Given the description of an element on the screen output the (x, y) to click on. 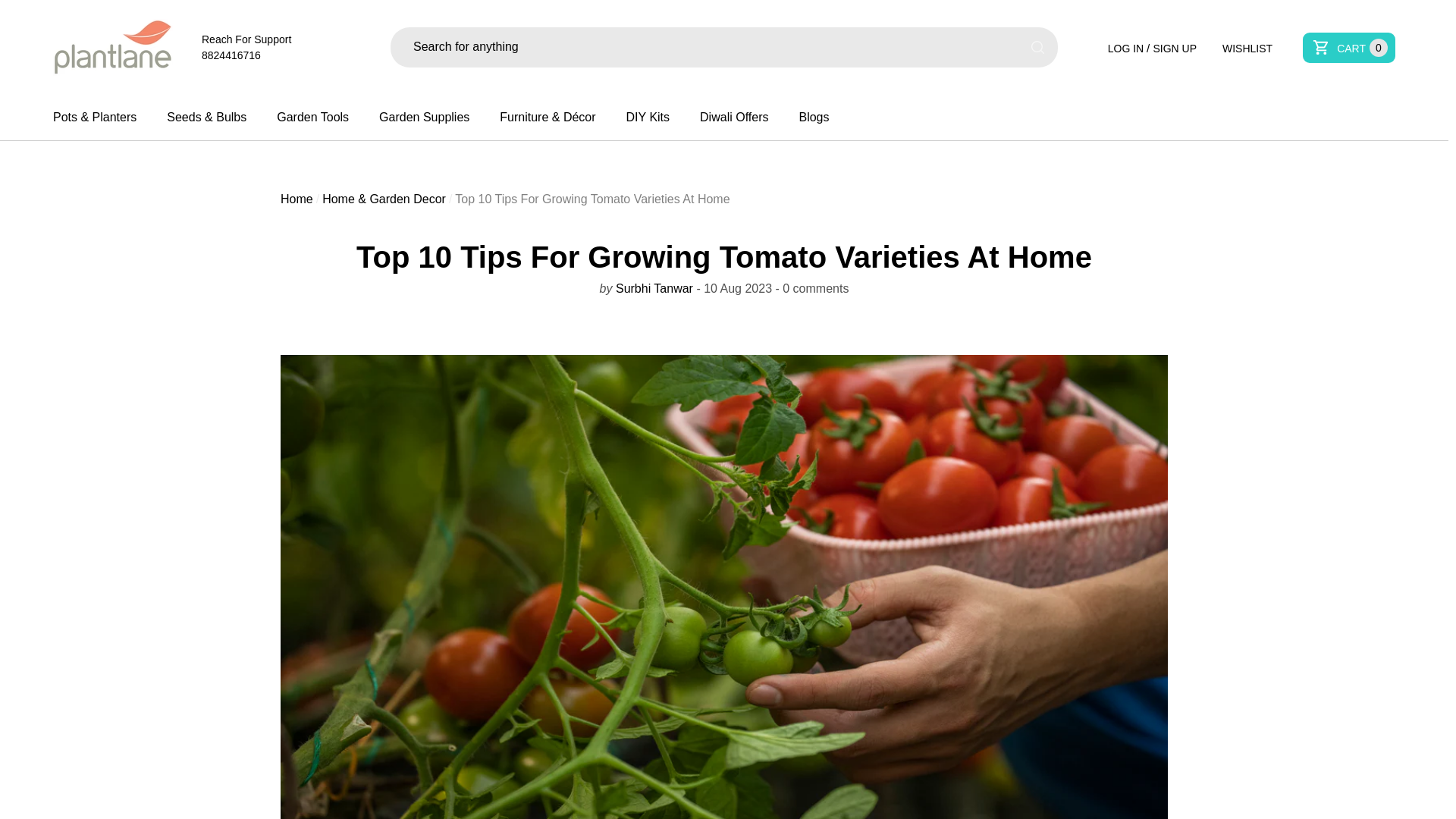
8824416716 (1247, 47)
LOG IN (231, 54)
SIGN UP (1125, 48)
Garden Tools (1174, 48)
Garden Supplies (1348, 46)
Home (312, 116)
Blogs (423, 116)
Diwali Offers (297, 199)
